Given the description of an element on the screen output the (x, y) to click on. 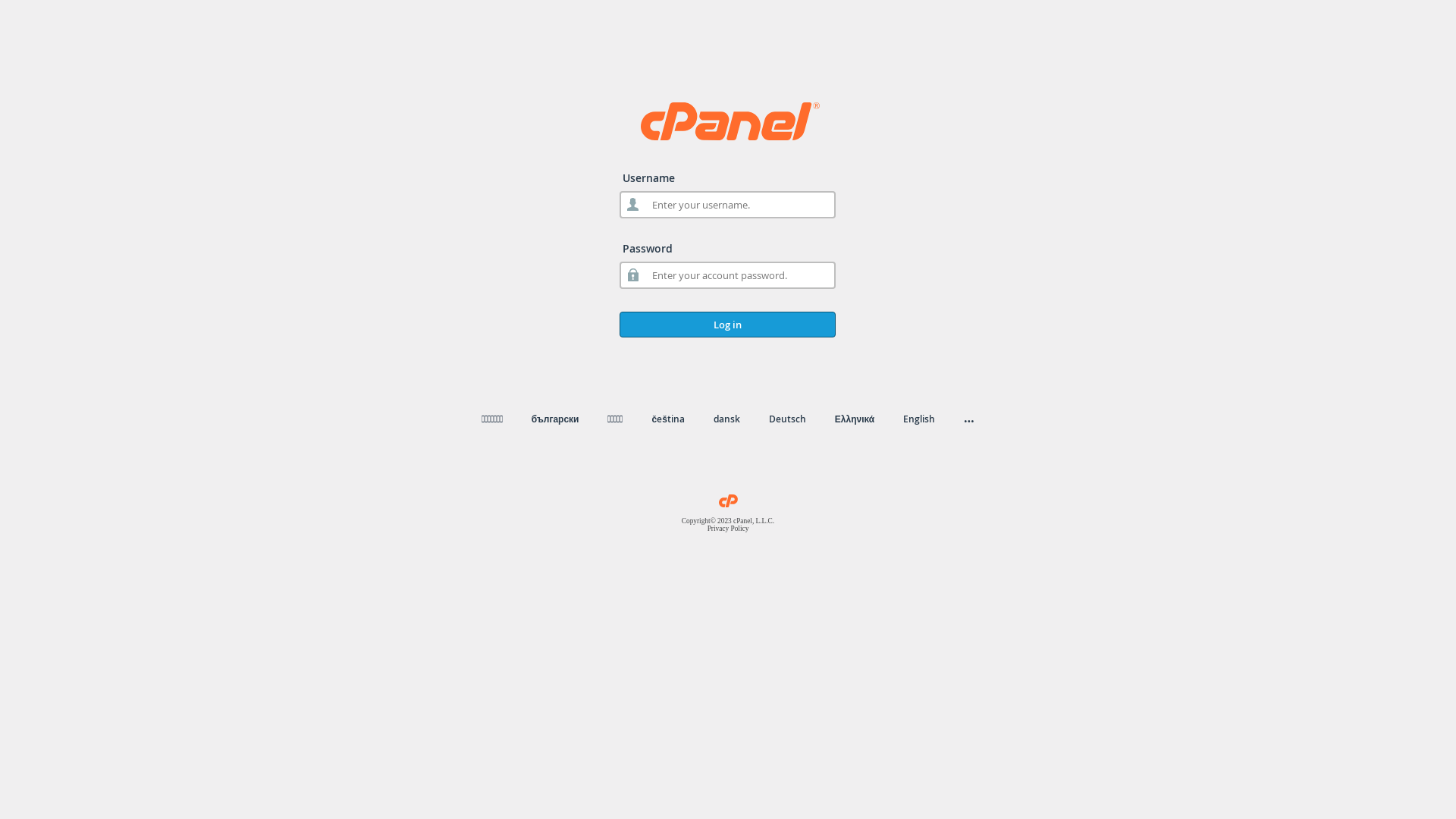
Log in Element type: text (727, 324)
Deutsch Element type: text (787, 418)
Privacy Policy Element type: text (728, 528)
English Element type: text (919, 418)
dansk Element type: text (726, 418)
